Given the description of an element on the screen output the (x, y) to click on. 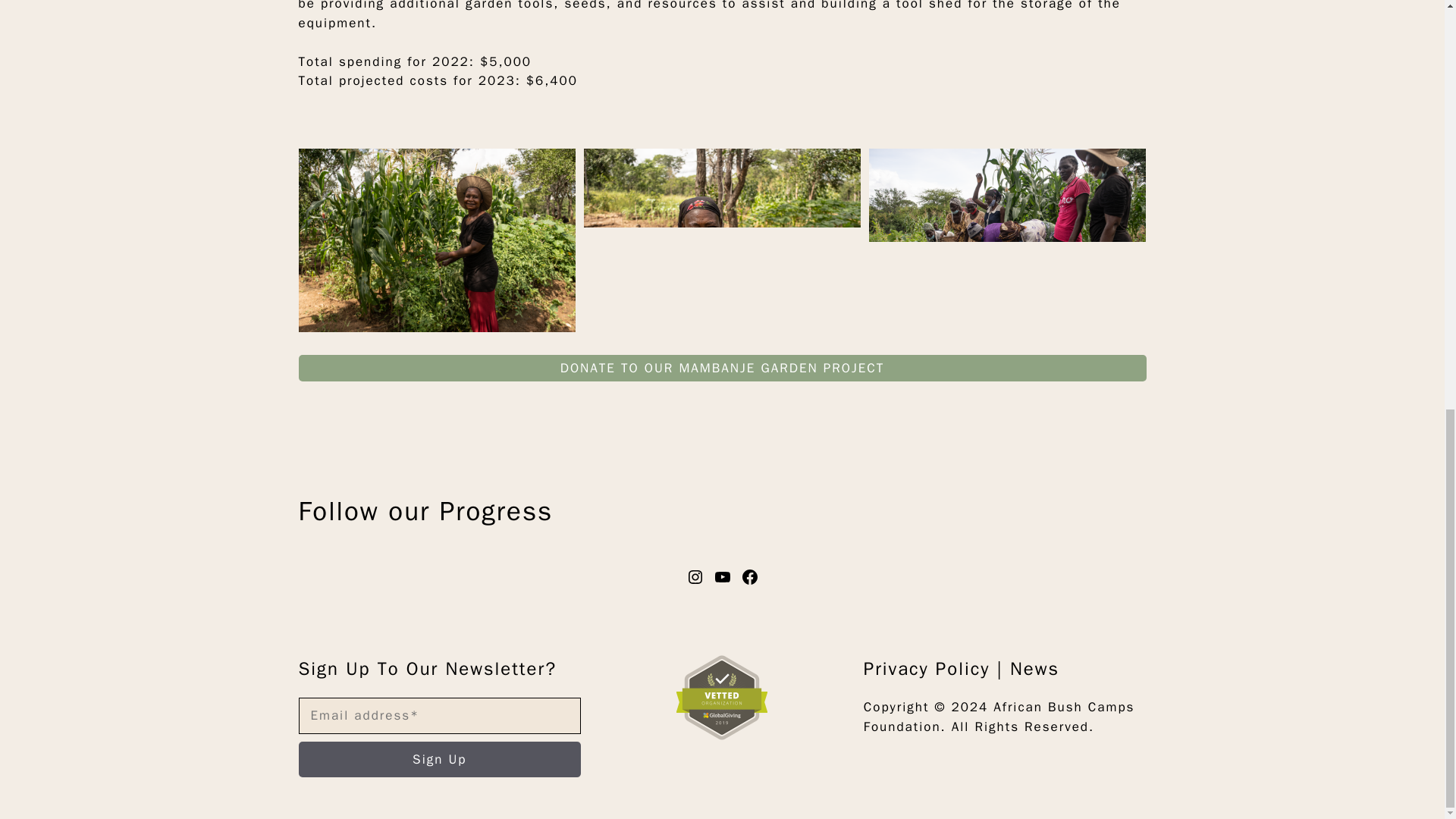
Sign Up (439, 760)
Facebook (748, 577)
DONATE TO OUR MAMBANJE GARDEN PROJECT (722, 368)
Sign Up (439, 760)
News (1034, 668)
Instagram (694, 577)
YouTube (721, 577)
Privacy Policy (926, 668)
